Given the description of an element on the screen output the (x, y) to click on. 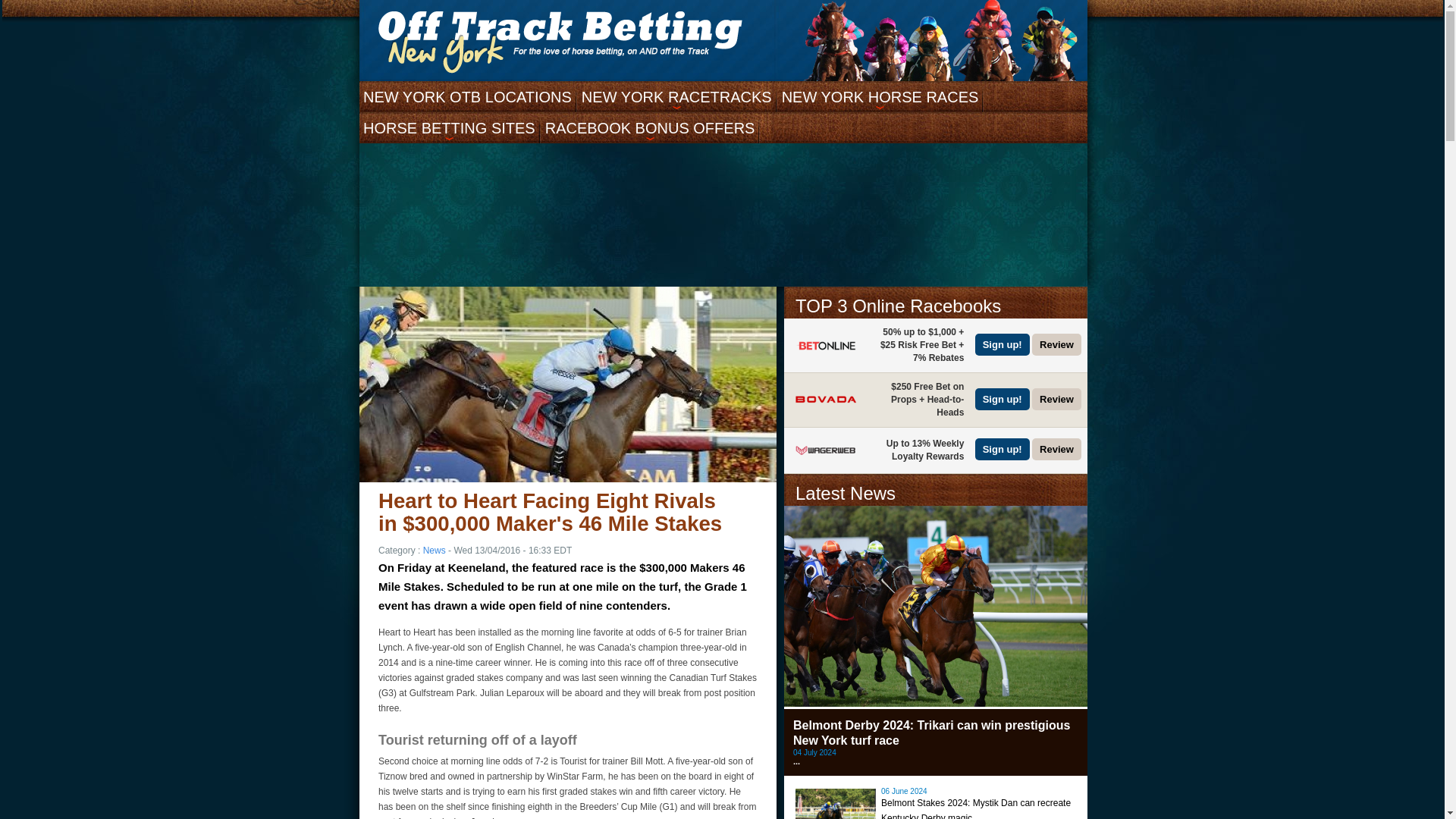
OffBettingYork (560, 42)
NEW YORK OTB LOCATIONS (467, 96)
RACEBOOK BONUS OFFERS (649, 127)
NEW YORK RACETRACKS (677, 96)
HORSE BETTING SITES (448, 127)
NEW YORK HORSE RACES (879, 96)
